Given the description of an element on the screen output the (x, y) to click on. 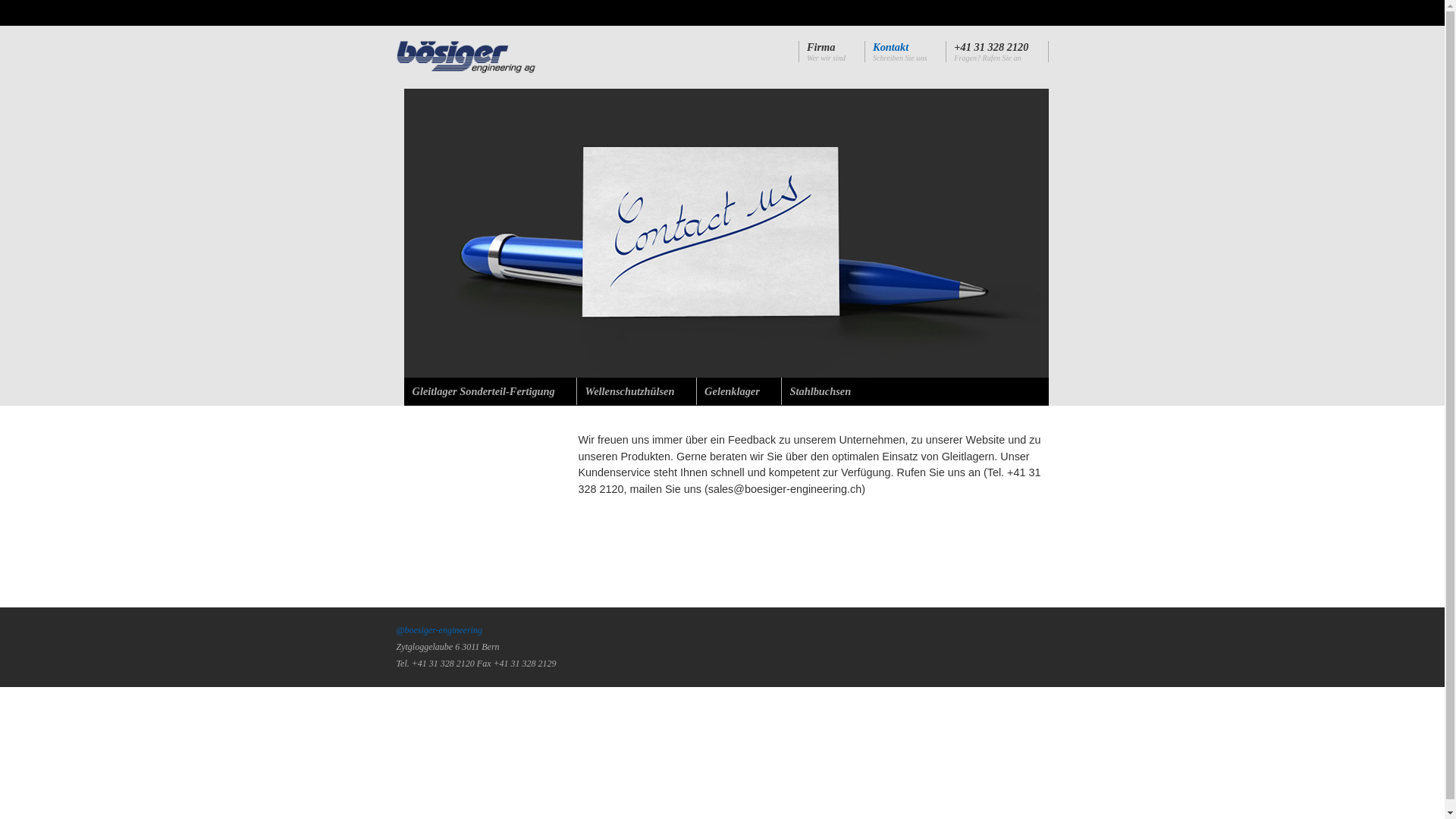
kontakt Element type: hover (725, 232)
Gelenklager Element type: text (731, 391)
@boesiger-engineering Element type: text (438, 629)
+41 31 328 2120 Element type: text (990, 46)
Gleitlager Sonderteil-Fertigung Element type: text (483, 391)
Kontakt Element type: text (890, 46)
Firma Element type: text (820, 46)
Stahlbuchsen Element type: text (819, 391)
